Given the description of an element on the screen output the (x, y) to click on. 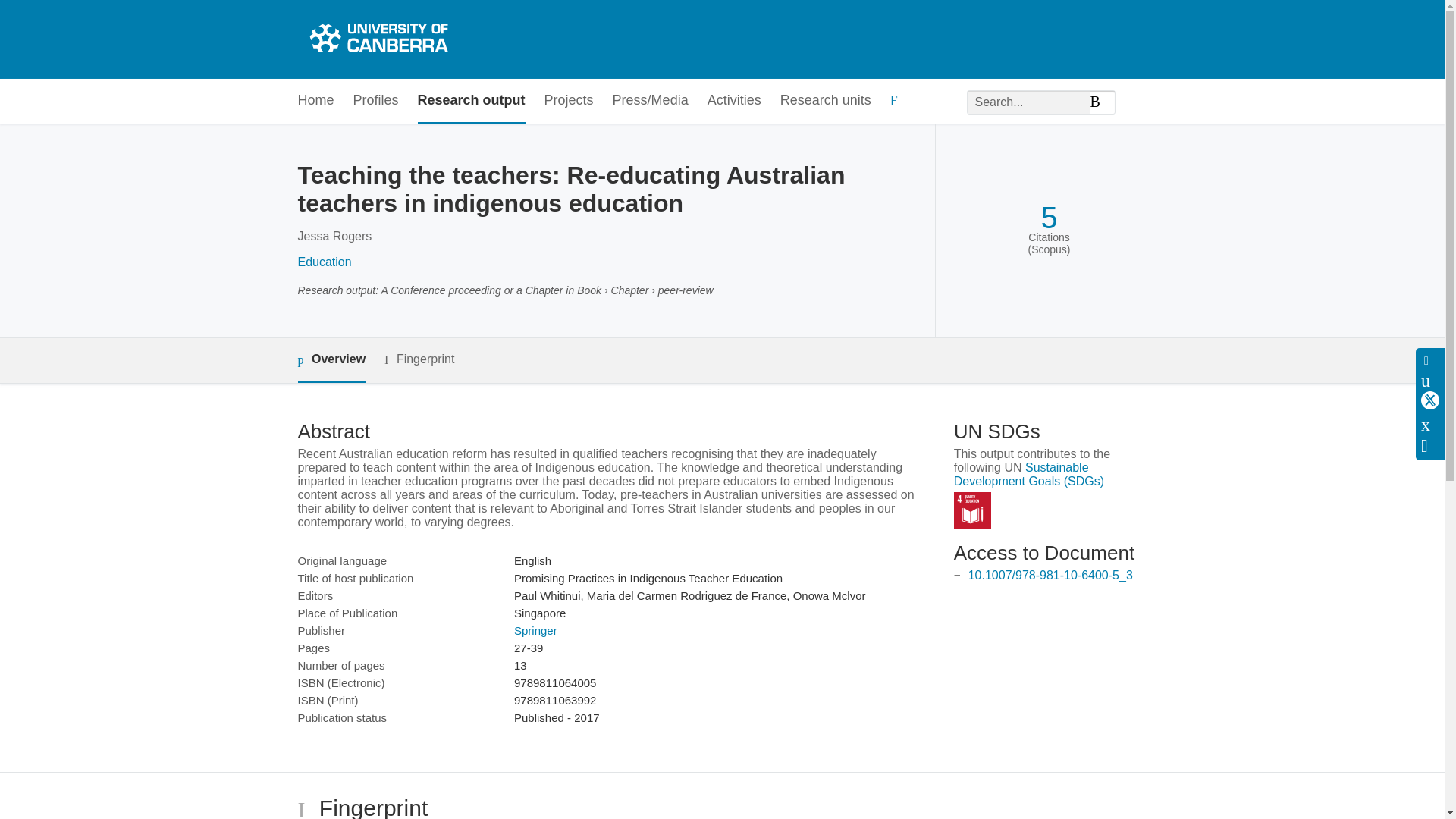
University of Canberra Research Portal Home (377, 39)
Education (323, 261)
Activities (734, 100)
Research units (825, 100)
Research output (471, 100)
Home (315, 100)
Profiles (375, 100)
Springer (535, 630)
Fingerprint (419, 359)
Overview (331, 360)
Projects (569, 100)
SDG 4 - Quality Education (972, 510)
5 (1049, 217)
